Given the description of an element on the screen output the (x, y) to click on. 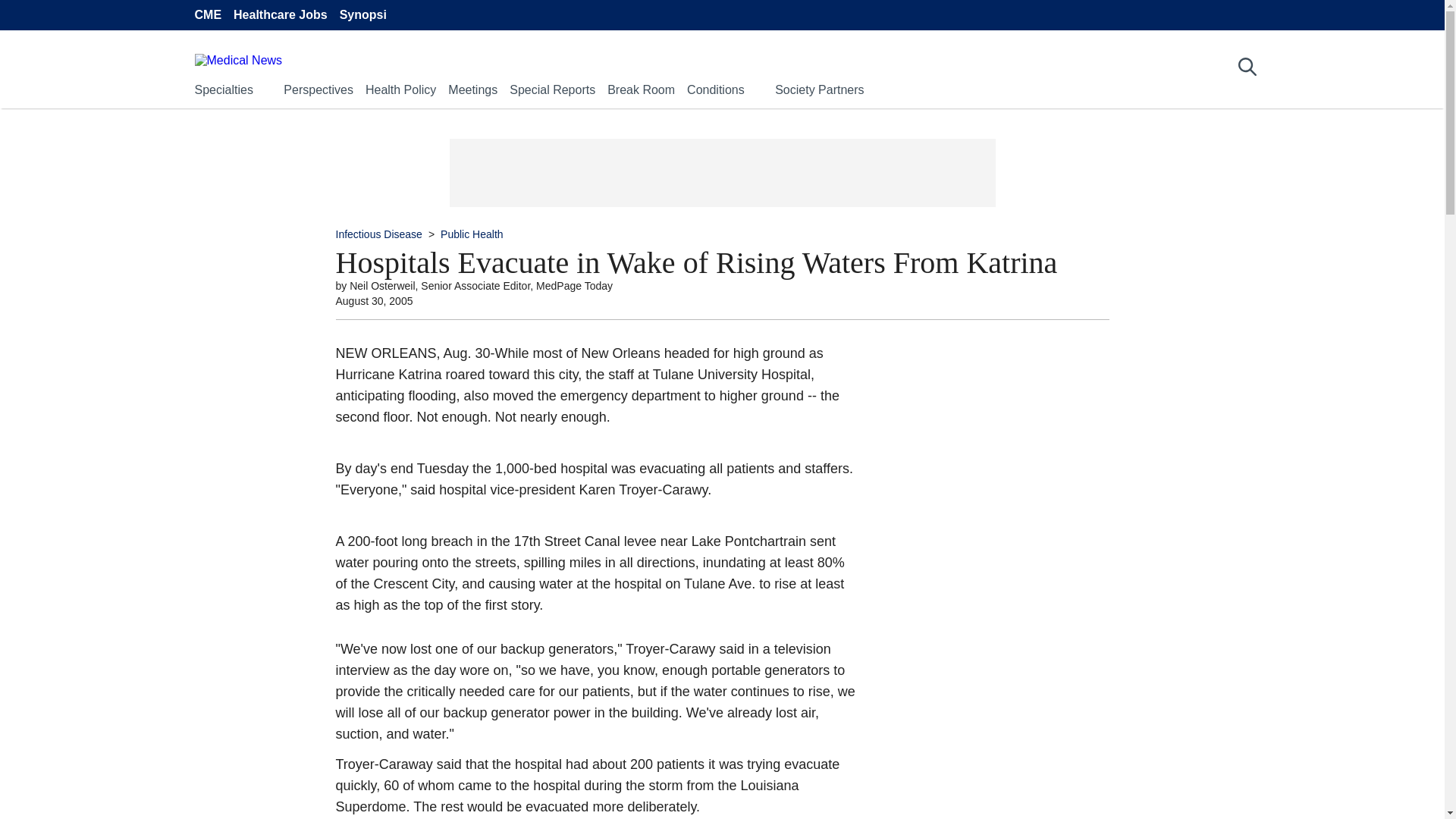
Specialties (222, 89)
Synopsi (363, 15)
CME (207, 15)
Healthcare Jobs (279, 15)
